Given the description of an element on the screen output the (x, y) to click on. 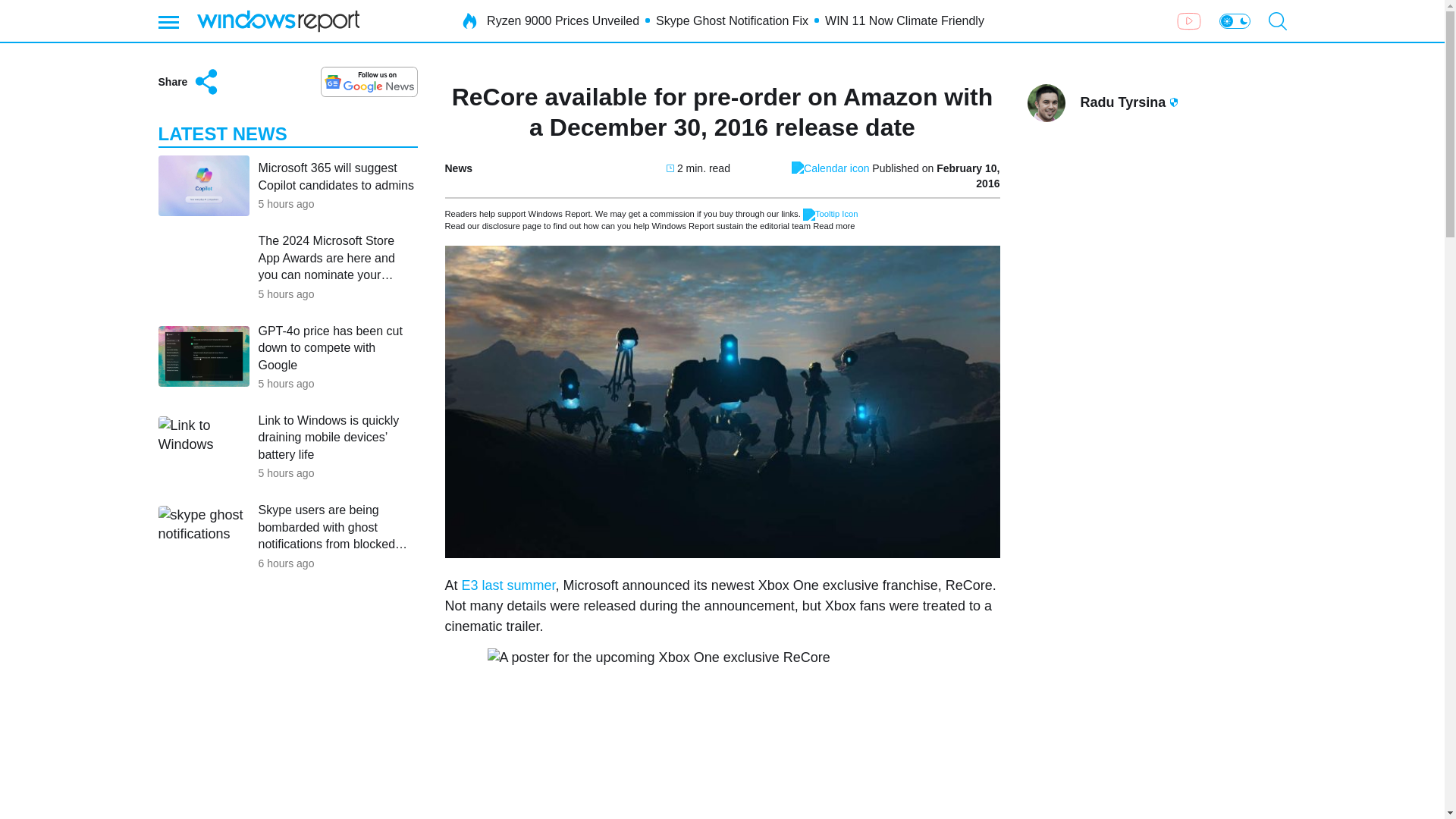
Share (189, 81)
Microsoft 365 will suggest Copilot candidates to admins (336, 176)
WIN 11 Now Climate Friendly (904, 21)
News (457, 168)
GPT-4o price has been cut down to compete with Google (336, 347)
Open search bar (1276, 21)
Skype Ghost Notification Fix (732, 21)
Share this article (189, 81)
Ryzen 9000 Prices Unveiled (562, 21)
